Given the description of an element on the screen output the (x, y) to click on. 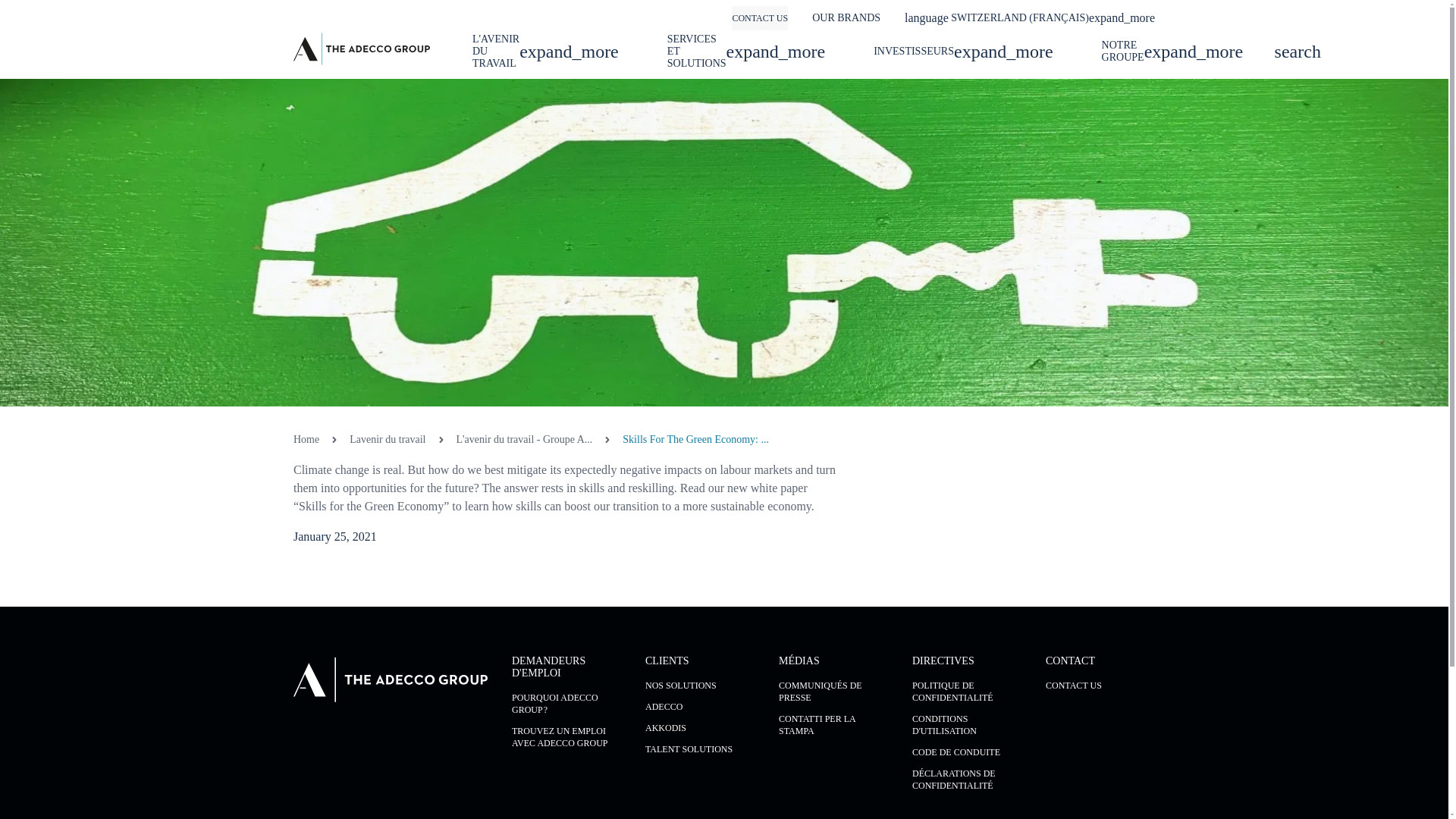
CONTACT US (759, 17)
AKKODIS (699, 727)
ADECCO (699, 706)
CONDITIONS D'UTILISATION (967, 724)
CODE DE CONDUITE (967, 752)
NOS SOLUTIONS (699, 685)
CONTATTI PER LA STAMPA (833, 724)
Lavenir du travail (387, 439)
L'avenir du travail - Groupe A... (524, 439)
